Given the description of an element on the screen output the (x, y) to click on. 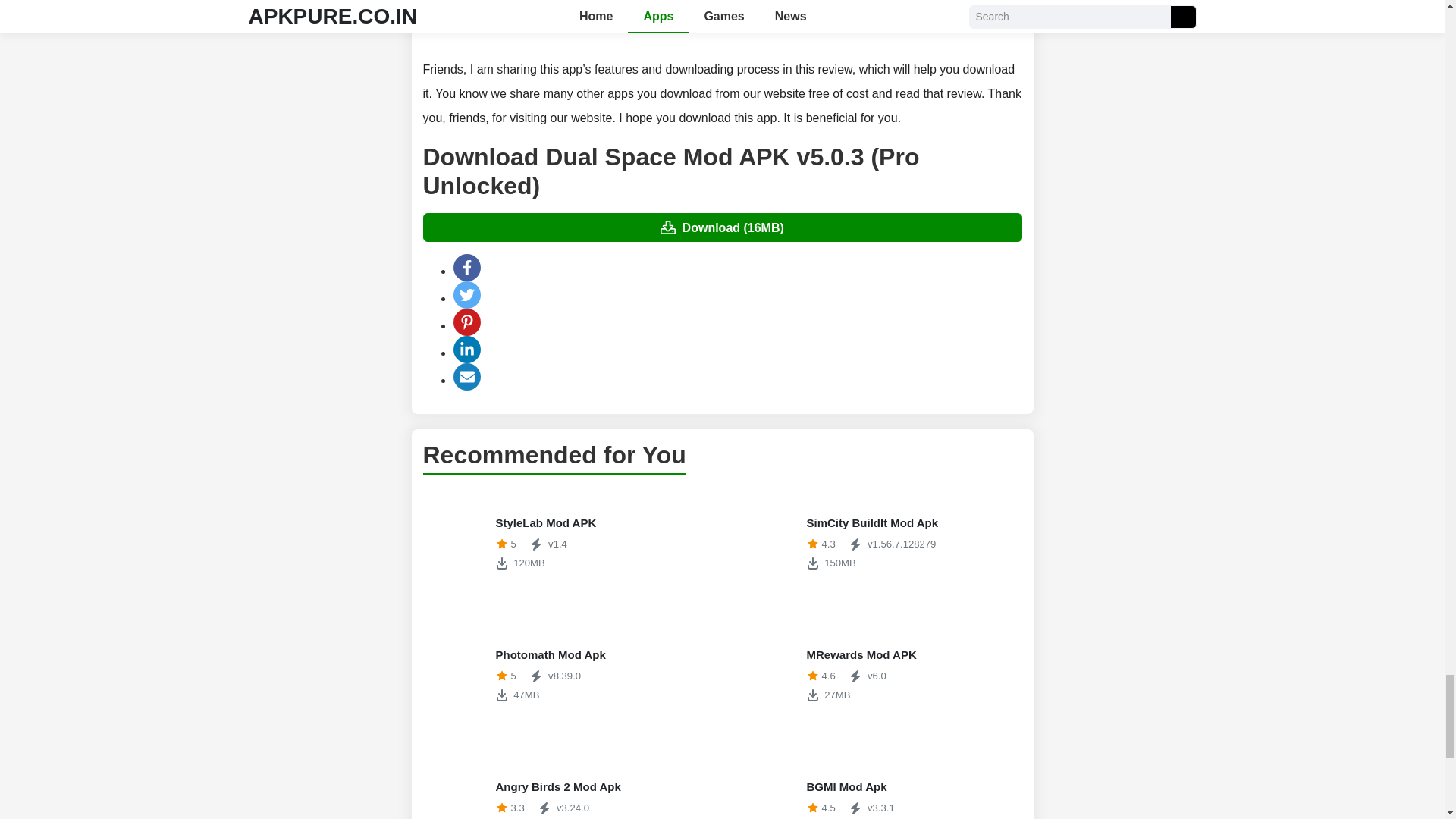
 Angry Birds 2 Mod Apk (456, 785)
 BGMI Mod Apk (877, 543)
 StyleLab Mod APK (567, 543)
 Angry Birds 2 Mod Apk (877, 785)
 SimCity BuildIt Mod Apk (567, 543)
